Given the description of an element on the screen output the (x, y) to click on. 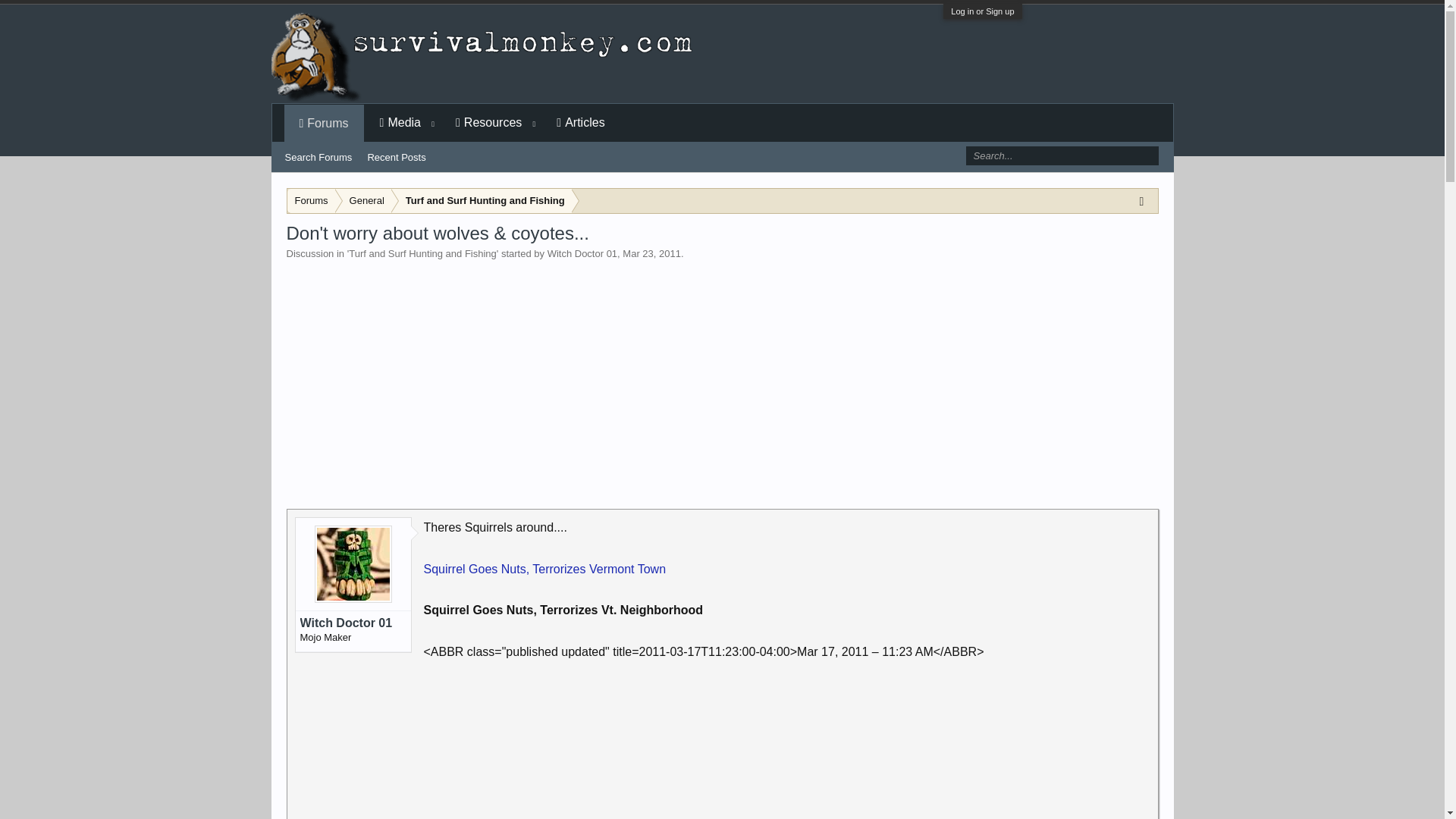
Open quick navigation (1144, 200)
Turf and Surf Hunting and Fishing (422, 253)
Forums (310, 201)
Log in or Sign up (981, 10)
Mar 23, 2011 at 12:07 (652, 253)
Witch Doctor 01 (352, 622)
Advertisement (786, 740)
Mar 23, 2011 (652, 253)
Turf and Surf Hunting and Fishing (481, 201)
Witch Doctor 01 (582, 253)
Squirrel Goes Nuts, Terrorizes Vermont Town (545, 568)
General (363, 201)
